Given the description of an element on the screen output the (x, y) to click on. 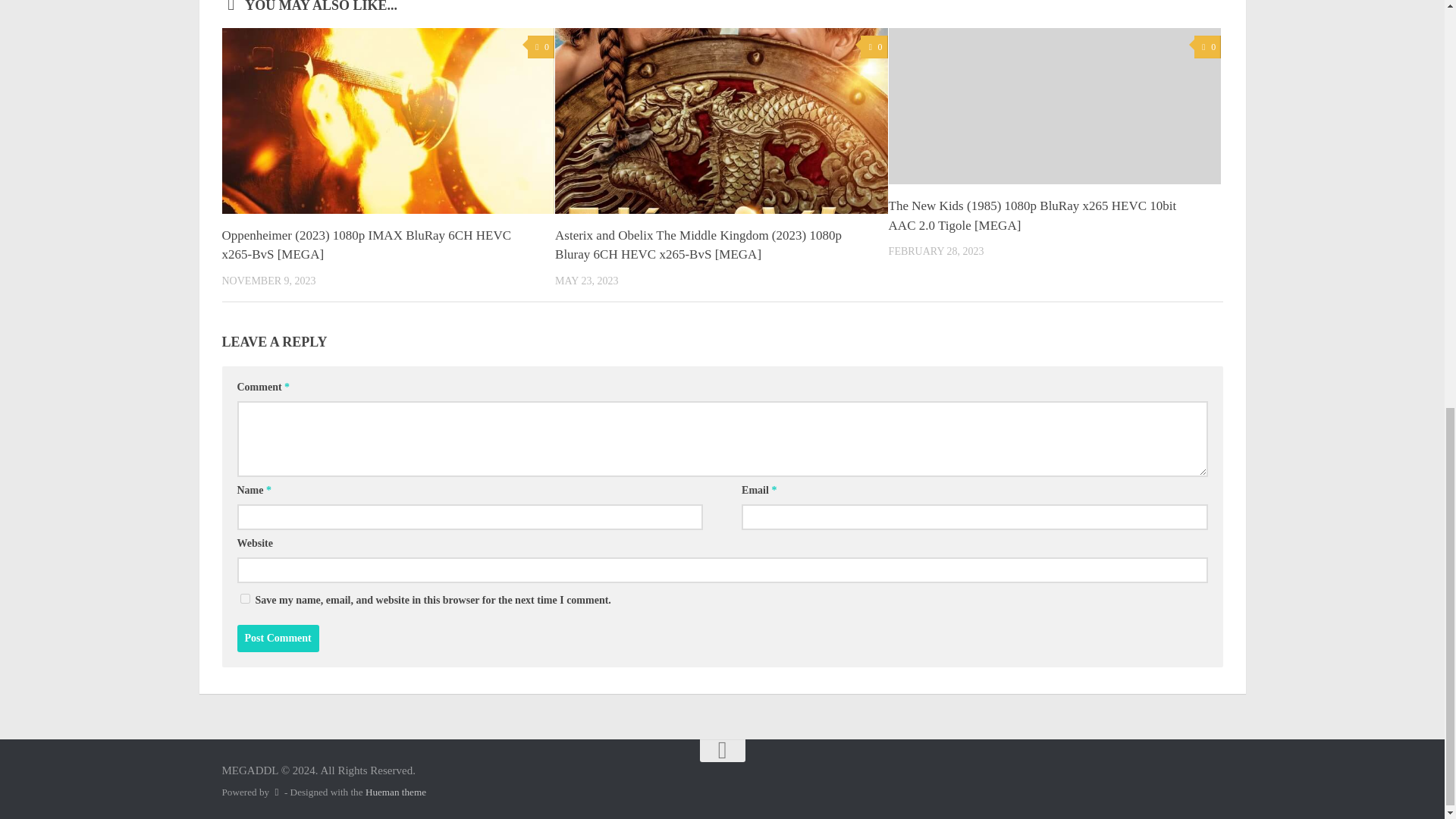
0 (1207, 47)
Post Comment (276, 637)
0 (873, 47)
Hueman theme (395, 791)
yes (244, 598)
Powered by WordPress (275, 791)
Post Comment (276, 637)
0 (540, 47)
Hueman theme (395, 791)
